Given the description of an element on the screen output the (x, y) to click on. 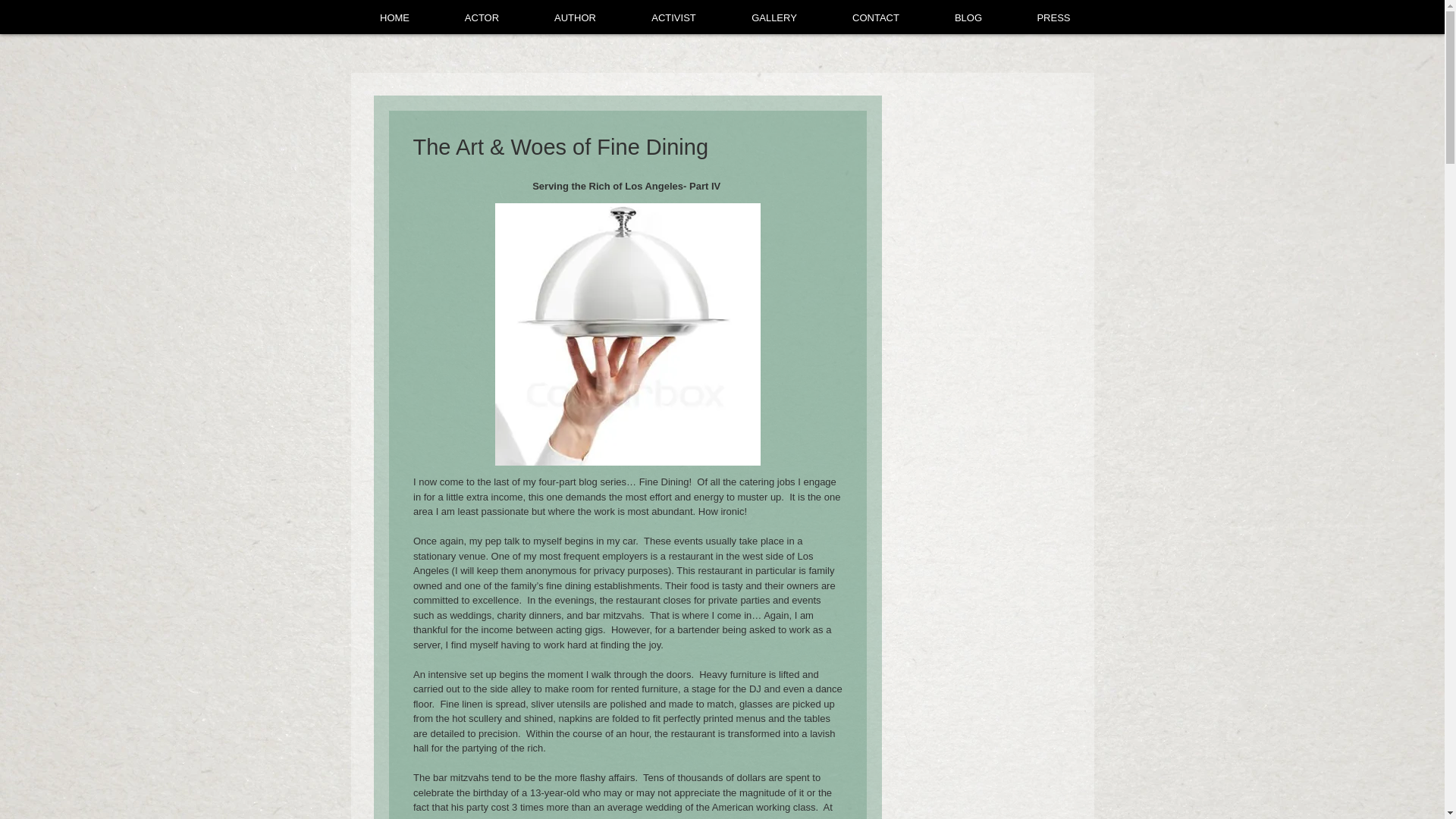
CONTACT (876, 17)
ACTIVIST (673, 17)
GALLERY (773, 17)
HOME (394, 17)
ACTOR (480, 17)
BLOG (967, 17)
PRESS (1053, 17)
AUTHOR (574, 17)
